Given the description of an element on the screen output the (x, y) to click on. 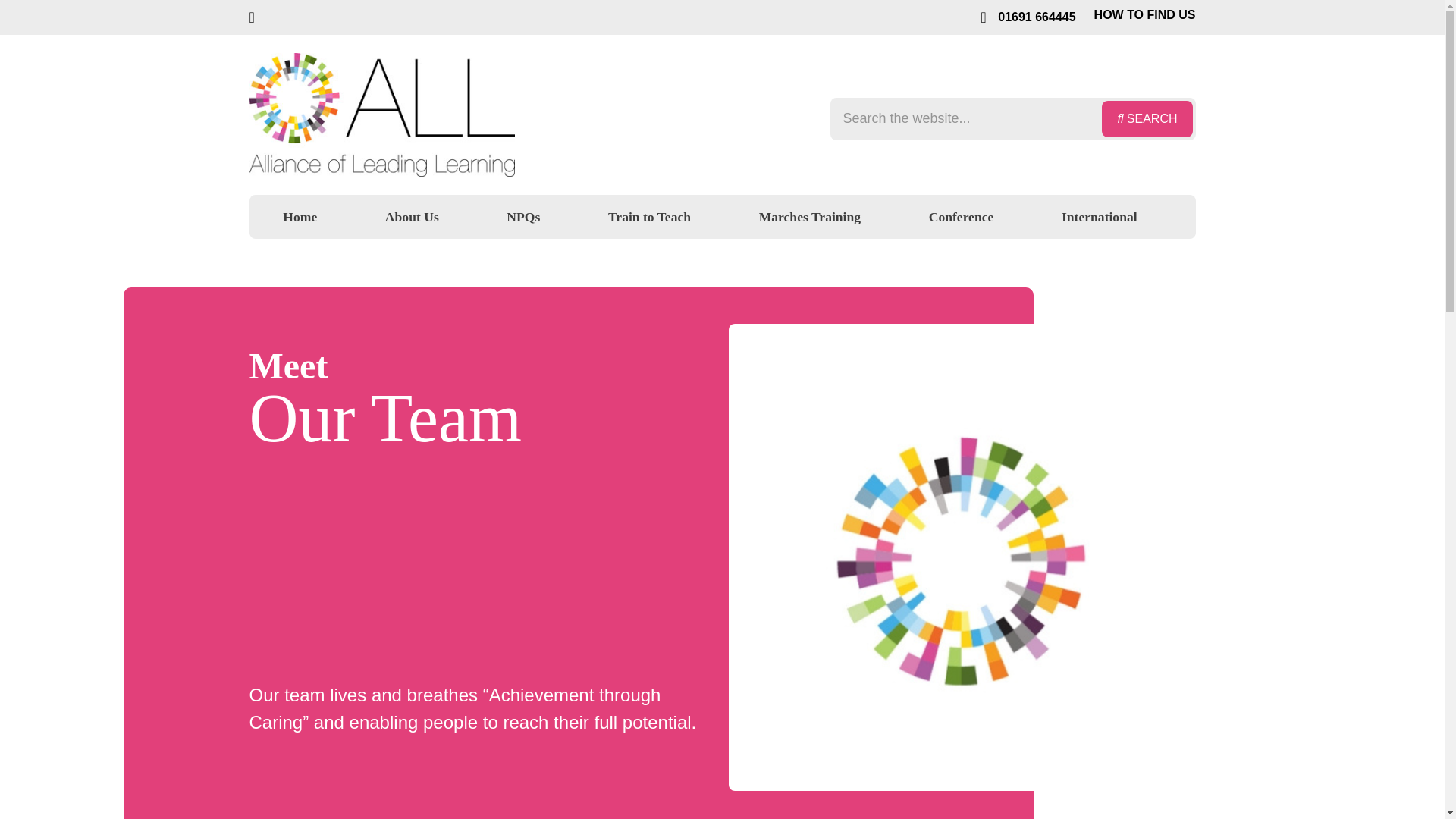
SEARCH (1147, 118)
01691 664445 (1027, 16)
About Us (412, 219)
NPQs (523, 219)
Home (299, 216)
Train to Teach (649, 219)
HOW TO FIND US (1141, 14)
